Given the description of an element on the screen output the (x, y) to click on. 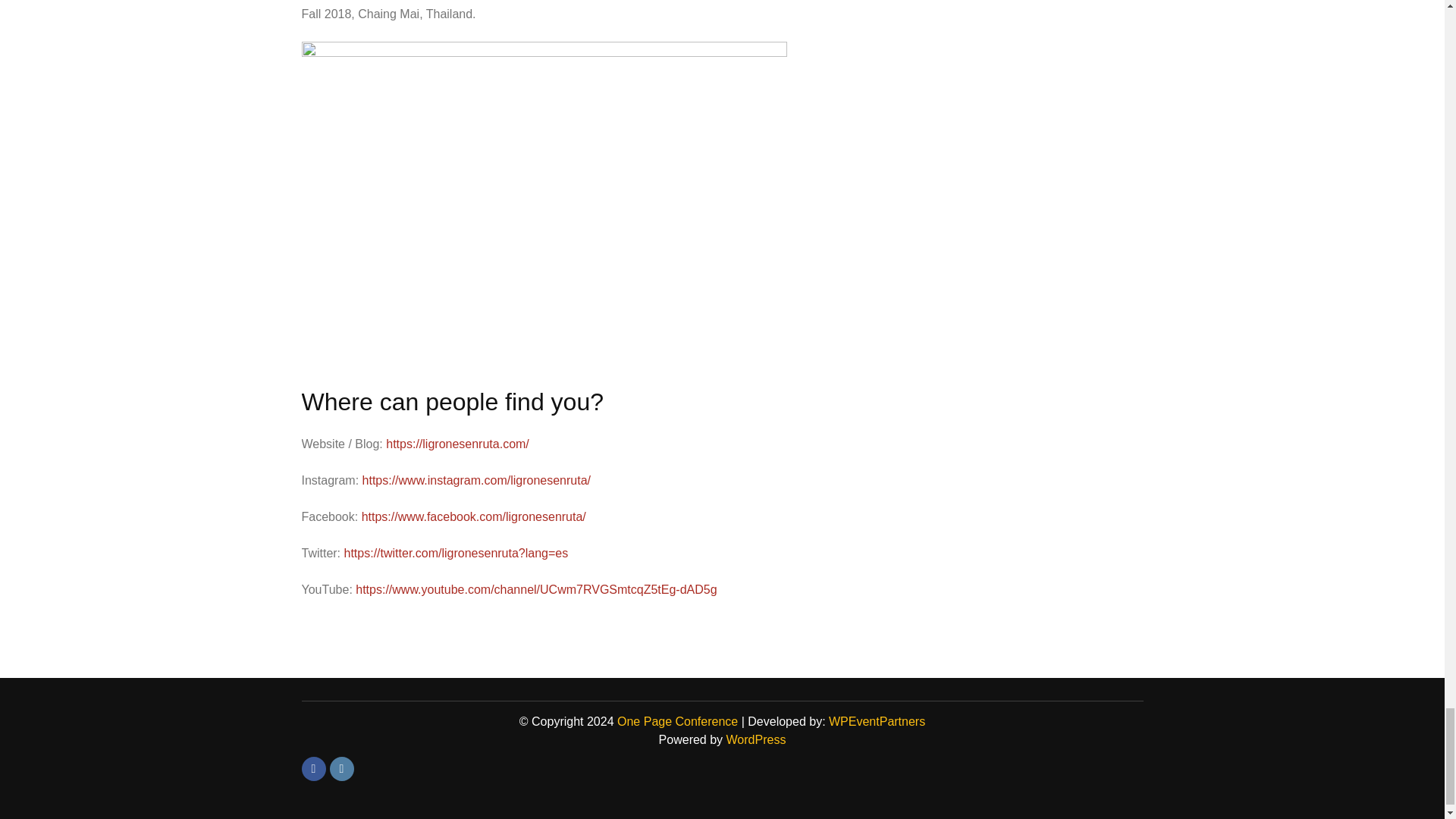
WPEventPartners (876, 721)
WordPress (756, 739)
One Page Conference (677, 721)
